Given the description of an element on the screen output the (x, y) to click on. 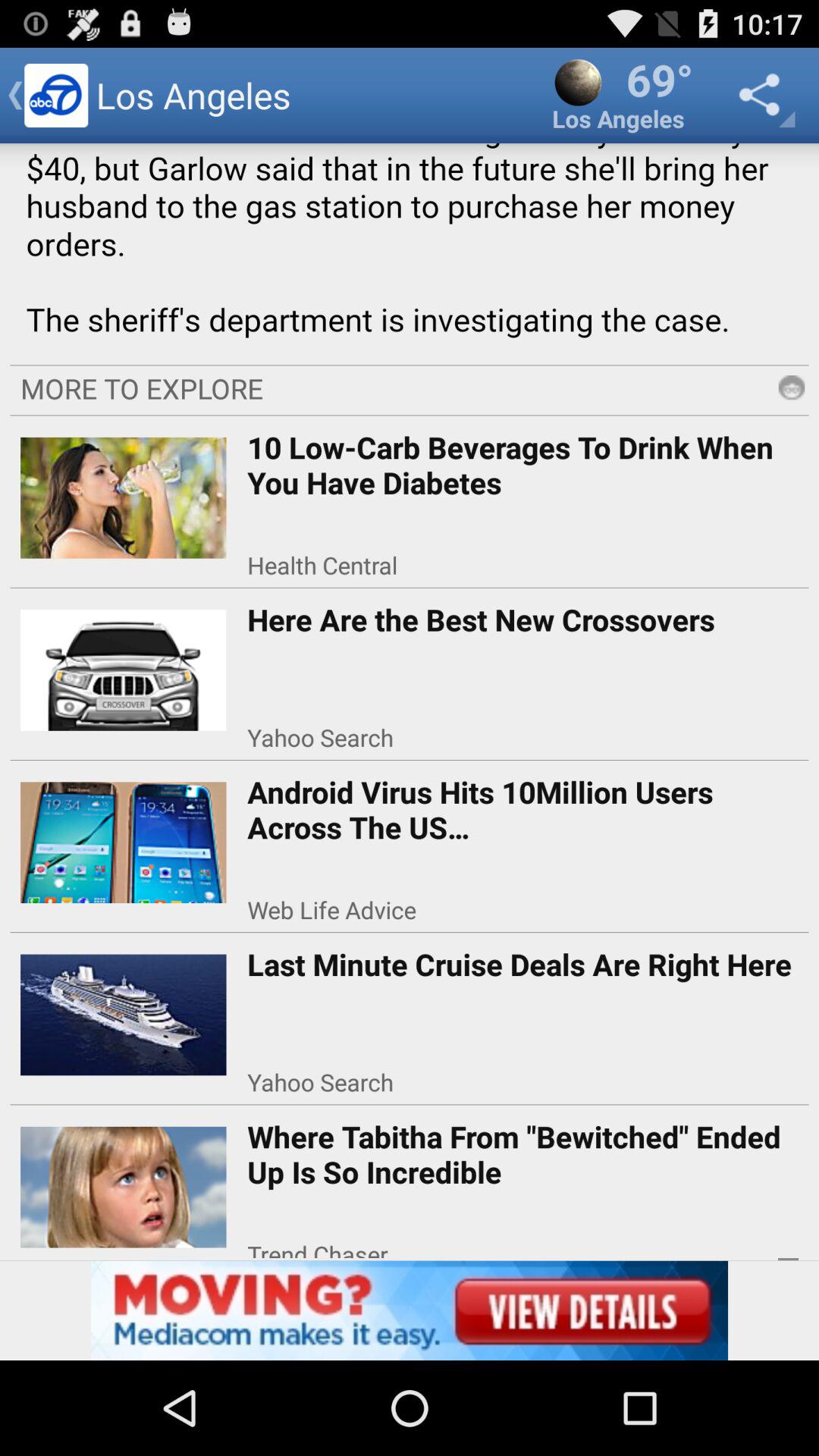
opens the advertisement (409, 1310)
